Given the description of an element on the screen output the (x, y) to click on. 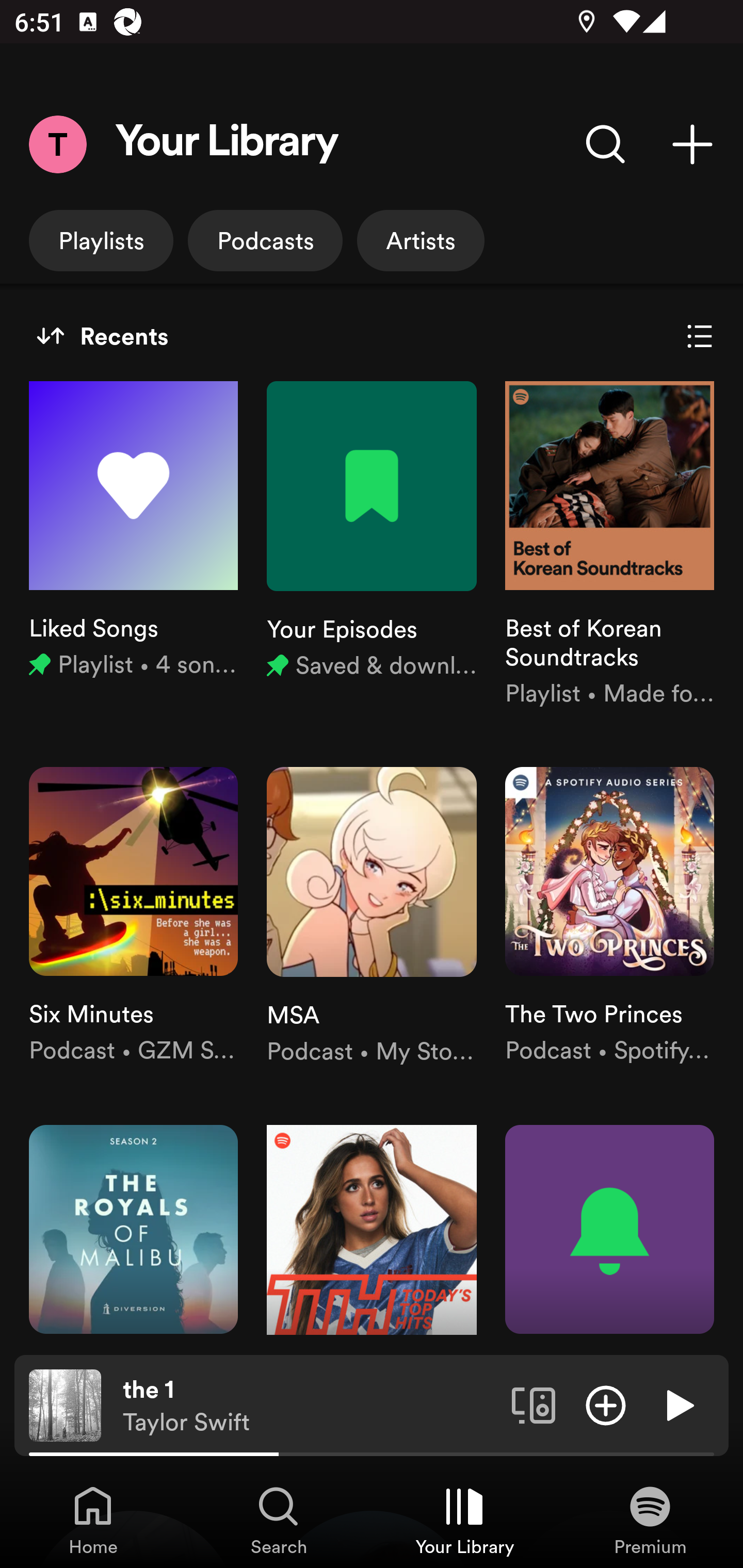
Menu (57, 144)
Search Your Library (605, 144)
Create playlist (692, 144)
Your Library Your Library Heading (226, 144)
Playlists, show only playlists. (100, 240)
Podcasts, show only podcasts. (264, 240)
Artists, show only artists. (420, 240)
Recents (101, 336)
Show List view (699, 336)
the 1 Taylor Swift (309, 1405)
The cover art of the currently playing track (64, 1404)
Connect to a device. Opens the devices menu (533, 1404)
Add item (605, 1404)
Play (677, 1404)
Home, Tab 1 of 4 Home Home (92, 1519)
Search, Tab 2 of 4 Search Search (278, 1519)
Your Library, Tab 3 of 4 Your Library Your Library (464, 1519)
Premium, Tab 4 of 4 Premium Premium (650, 1519)
